Given the description of an element on the screen output the (x, y) to click on. 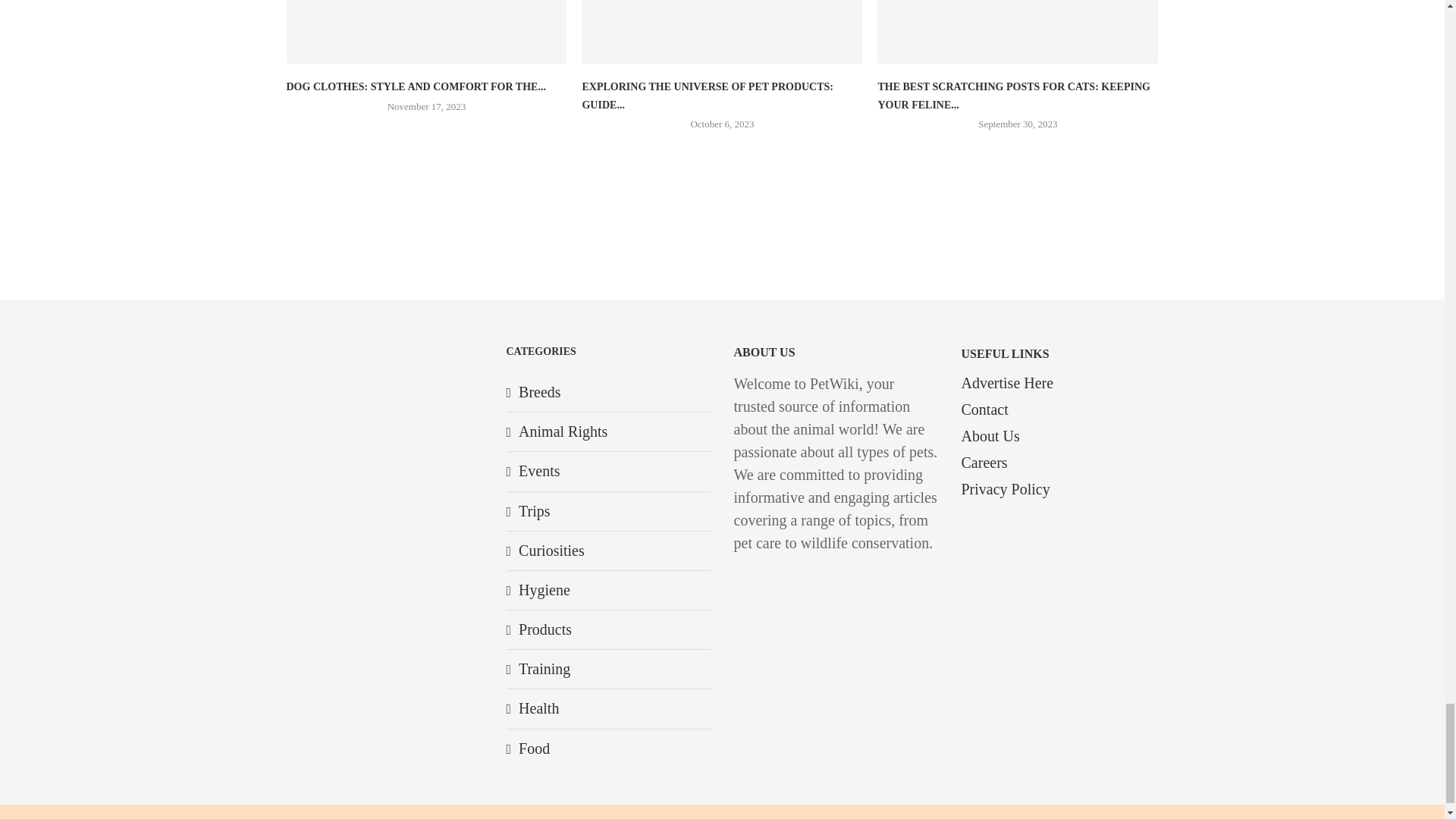
Dog clothes: style and comfort for your pet (426, 31)
